Given the description of an element on the screen output the (x, y) to click on. 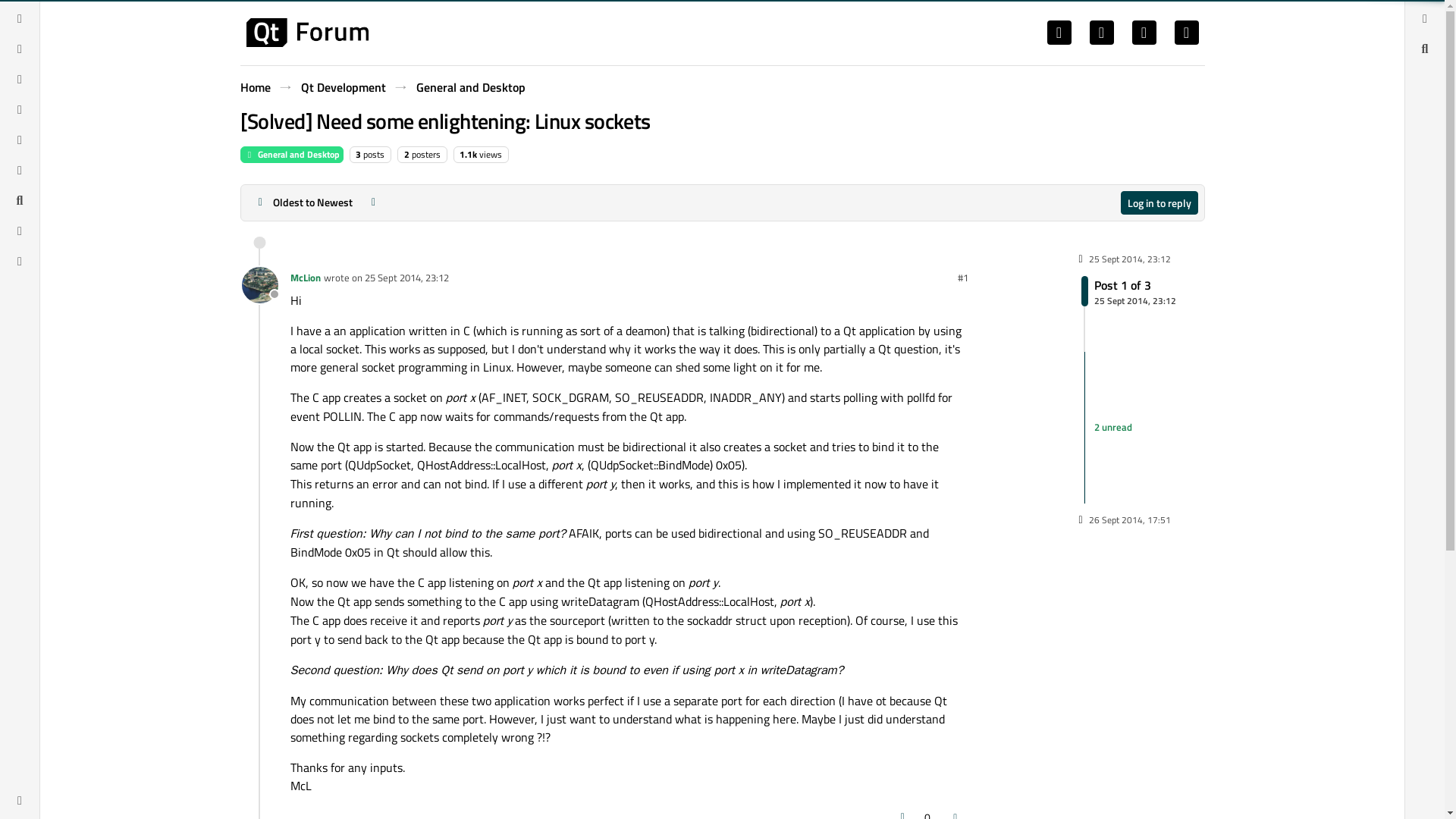
General and Desktop (291, 154)
Voters (927, 812)
Offline (259, 284)
General and Desktop (469, 86)
1114 (468, 154)
Qt Development (1128, 291)
Home (342, 86)
McLion (254, 86)
Log in to reply (304, 277)
